Given the description of an element on the screen output the (x, y) to click on. 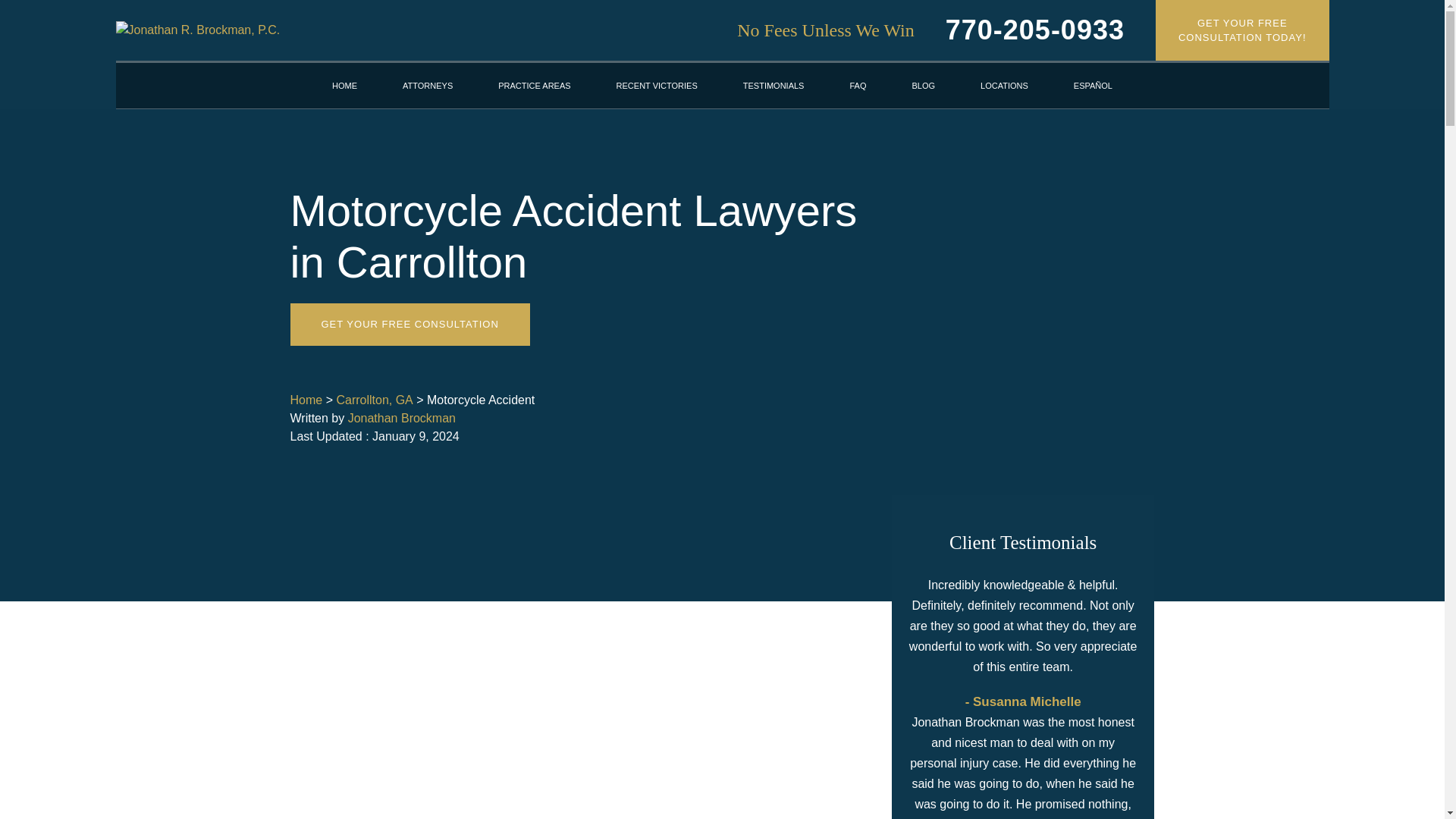
Go to Jonathan R. Brockman, P.C.. (1242, 30)
Go to Carrollton, GA. (305, 399)
ATTORNEYS (374, 399)
770-205-0933 (428, 85)
PRACTICE AREAS (1035, 30)
HOME (534, 85)
